Given the description of an element on the screen output the (x, y) to click on. 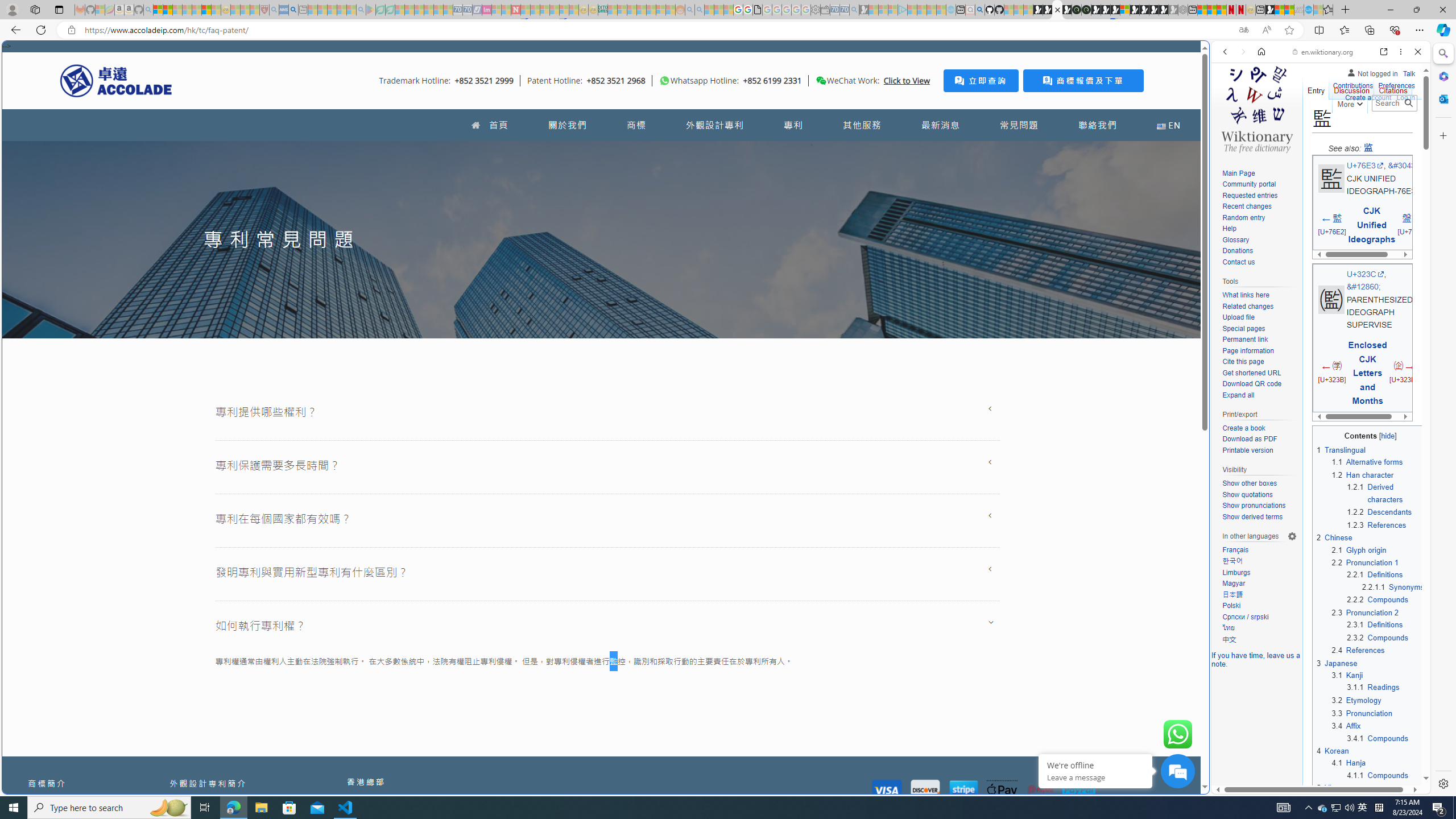
EN (1168, 124)
Wiktionary (1315, 380)
2.3 Pronunciation 2 (1364, 612)
Download as PDF (1259, 439)
2.2.1 Definitions (1374, 574)
